Given the description of an element on the screen output the (x, y) to click on. 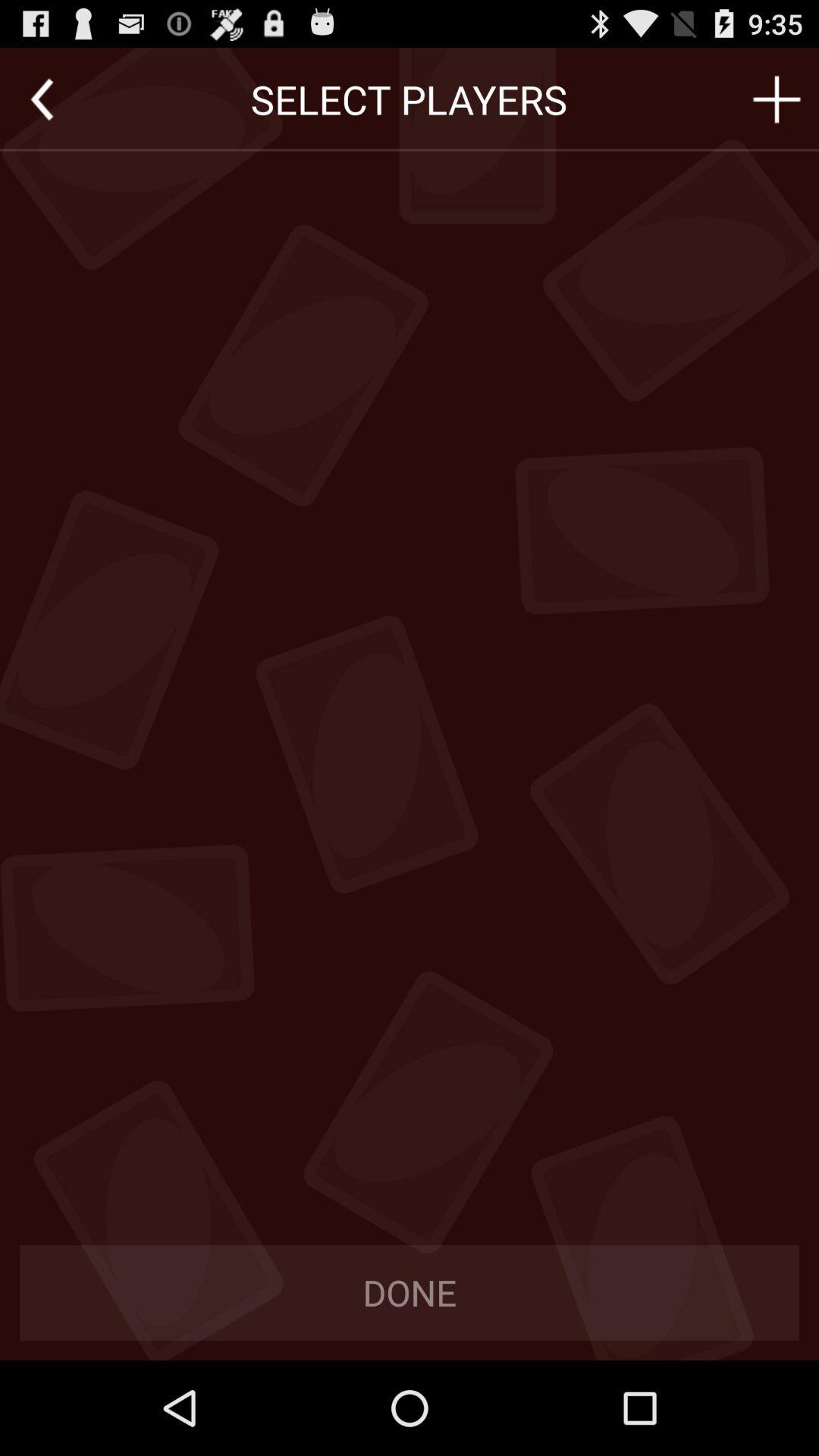
go back (42, 99)
